Given the description of an element on the screen output the (x, y) to click on. 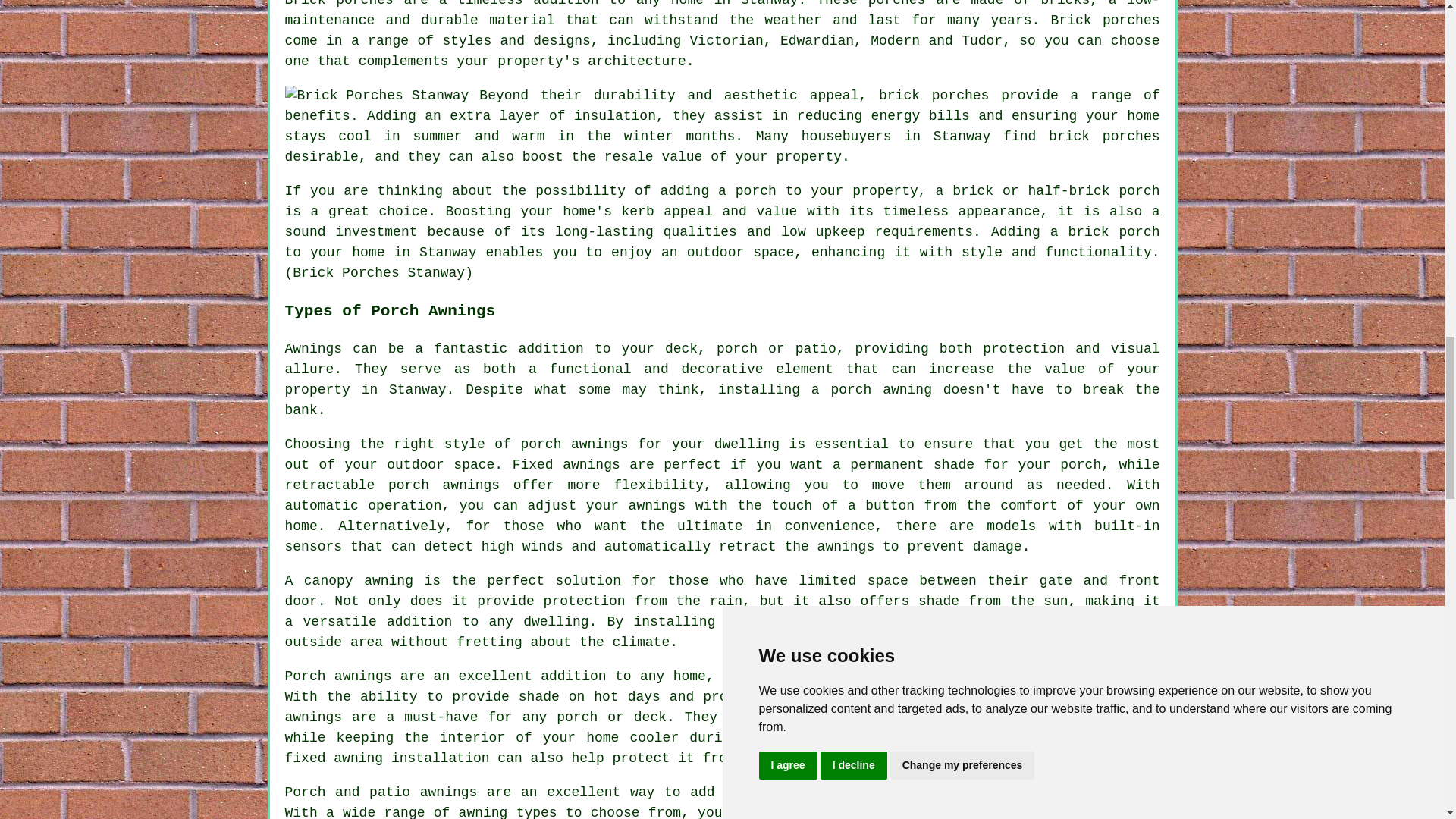
porch awning (880, 389)
brick porches (1103, 136)
Brick Porches Stanway (376, 95)
porches (896, 3)
